Given the description of an element on the screen output the (x, y) to click on. 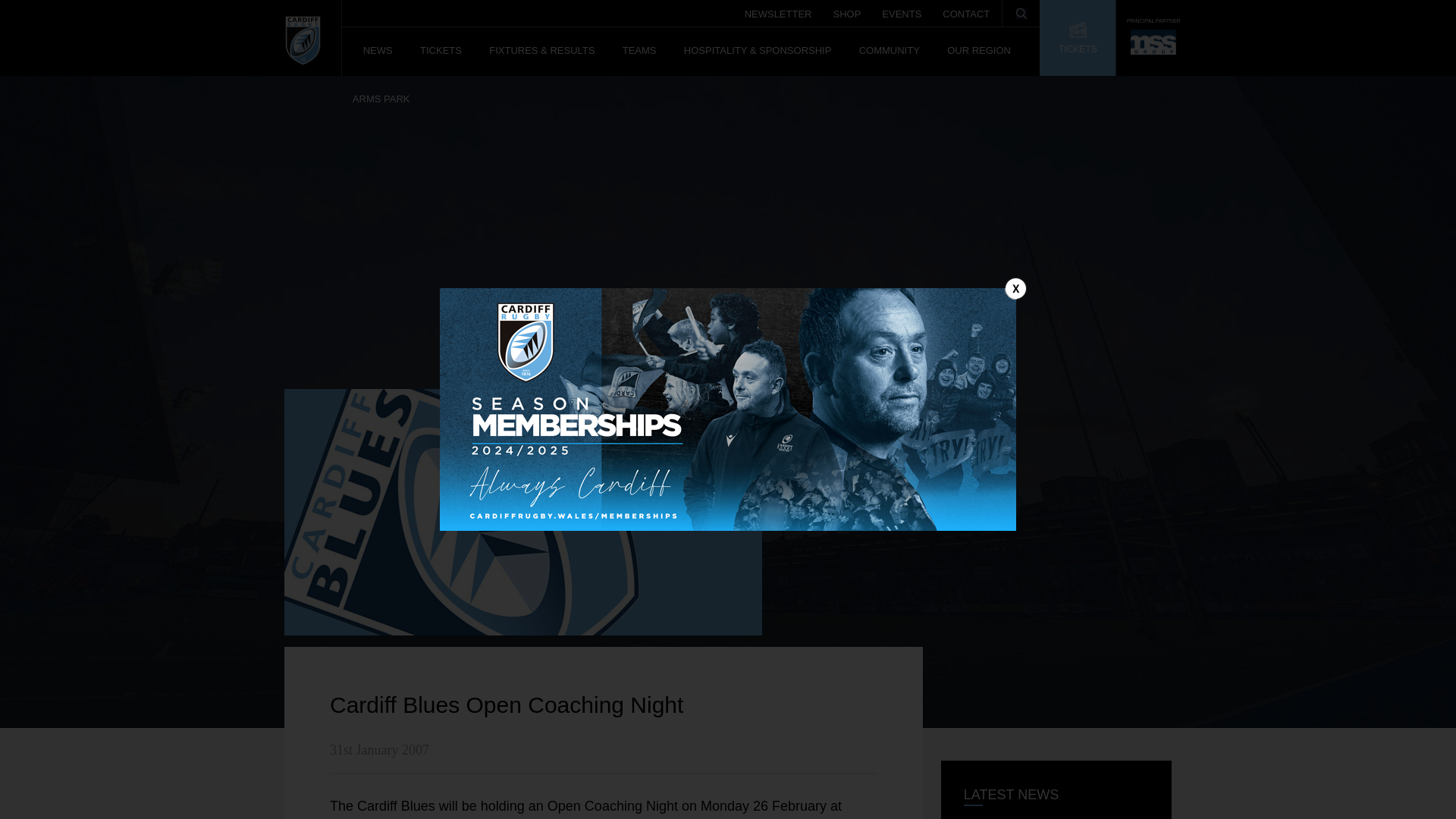
NEWSLETTER (778, 9)
CONTACT (966, 9)
EVENTS (901, 9)
SHOP (846, 9)
